Given the description of an element on the screen output the (x, y) to click on. 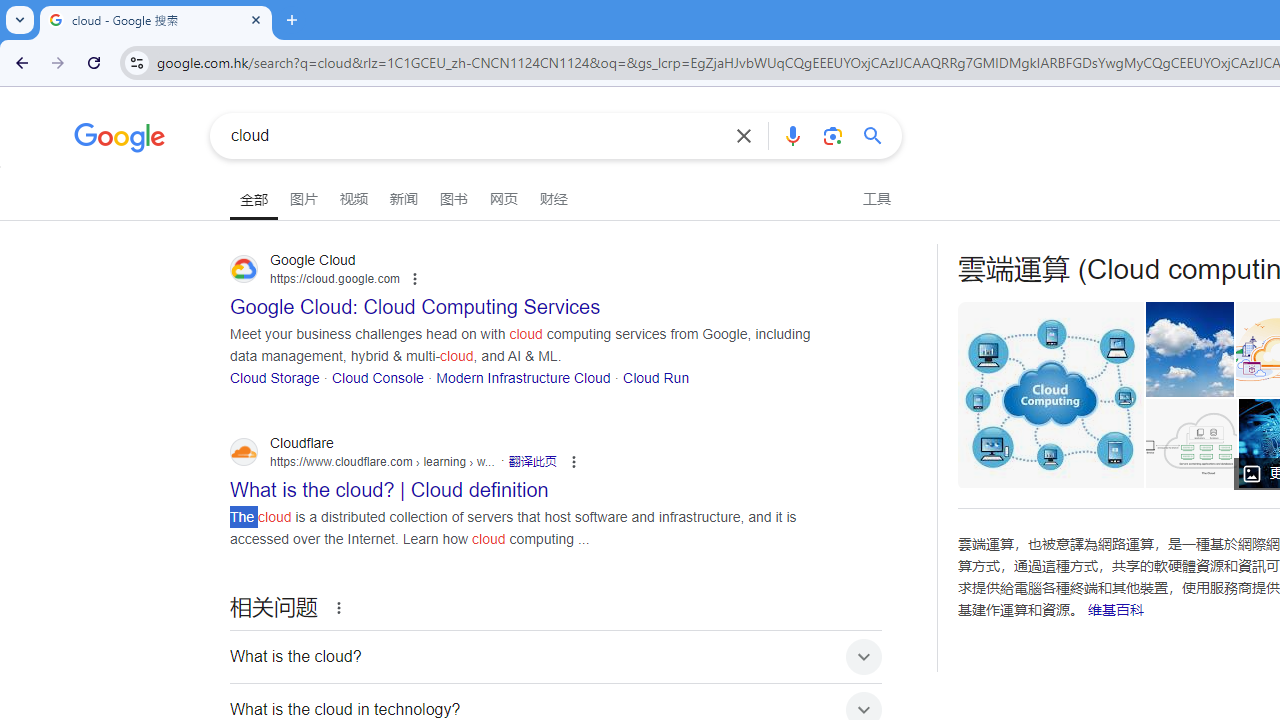
Cloud Run (656, 376)
What is the cloud? (555, 656)
Modern Infrastructure Cloud (523, 376)
